Given the description of an element on the screen output the (x, y) to click on. 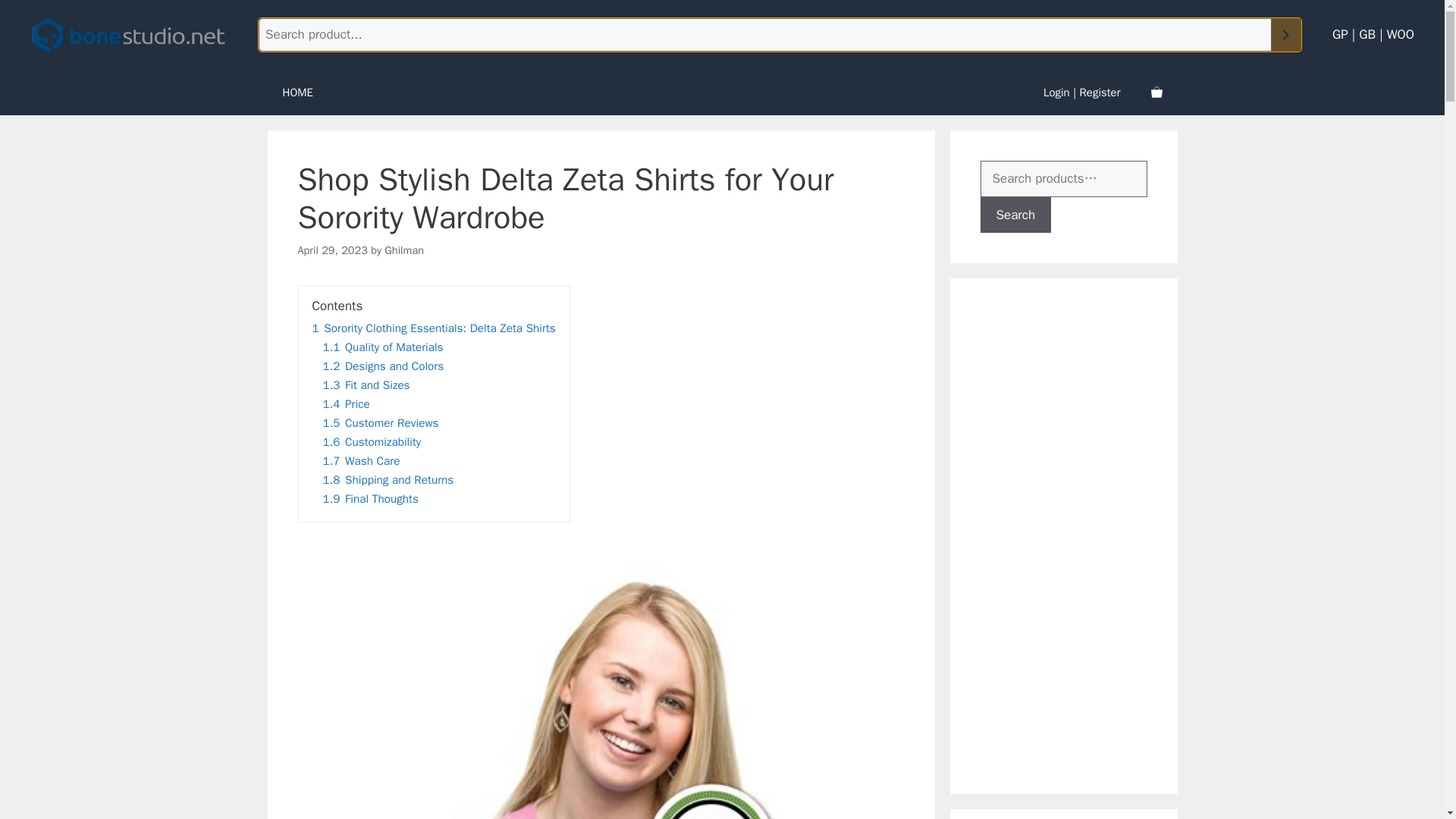
Ghilman (403, 250)
1.7 Wash Care (361, 460)
1.5 Customer Reviews (381, 422)
Search (1015, 215)
1.4 Price (346, 403)
1.3 Fit and Sizes (366, 385)
1.6 Customizability (372, 441)
HOME (296, 92)
1.2 Designs and Colors (383, 365)
1.1 Quality of Materials (383, 346)
View all posts by Ghilman (403, 250)
1.8 Shipping and Returns (388, 479)
View your shopping cart (1156, 92)
1.9 Final Thoughts (371, 498)
1 Sorority Clothing Essentials: Delta Zeta Shirts (434, 328)
